Given the description of an element on the screen output the (x, y) to click on. 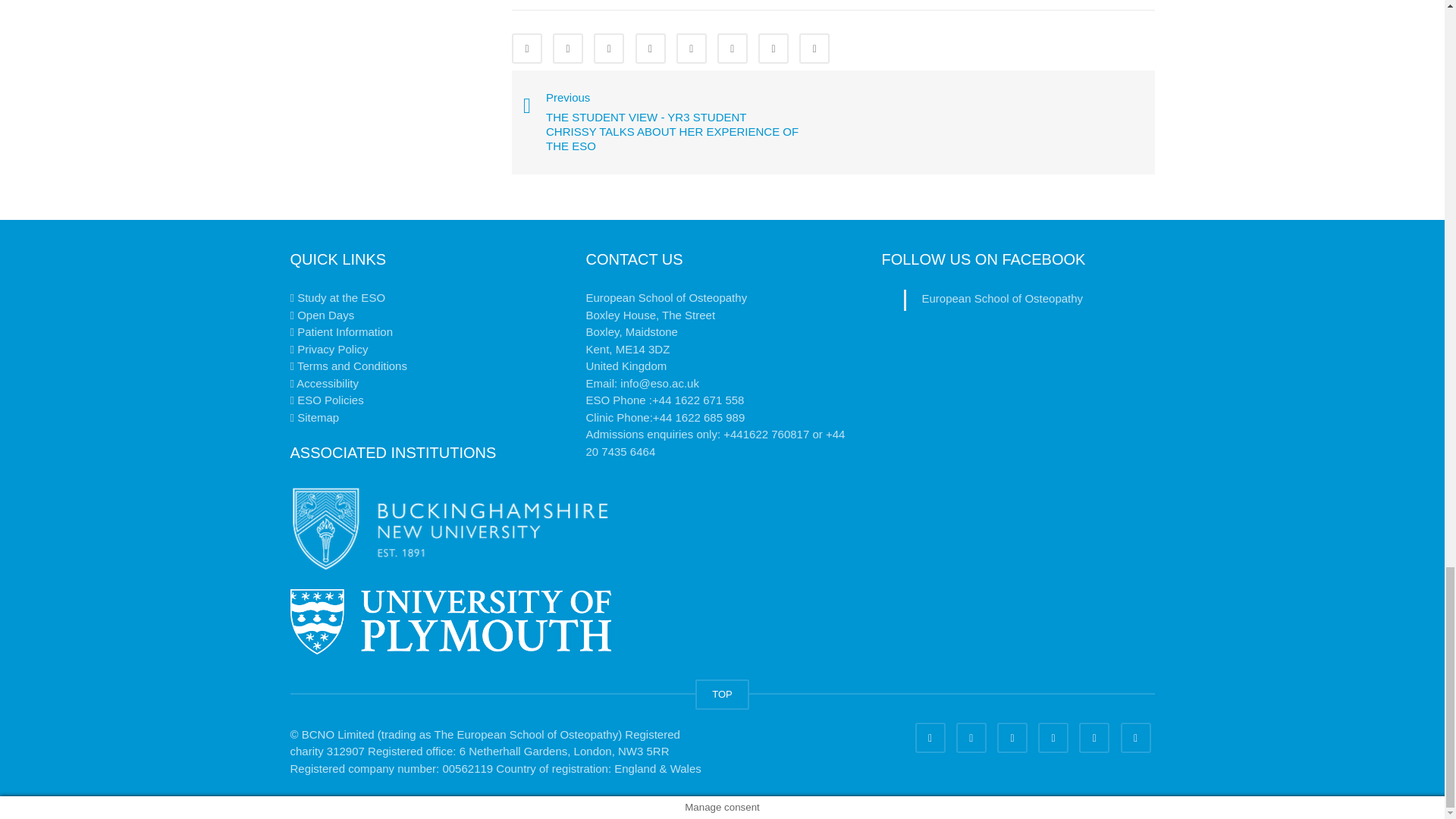
Share on Facebook (526, 48)
Share on Twitter (568, 48)
Share on Google Plus (691, 48)
Email this (814, 48)
Share on Vk (773, 48)
Pin this (732, 48)
Share on Tumblr (649, 48)
Share on LinkedIn (609, 48)
